Given the description of an element on the screen output the (x, y) to click on. 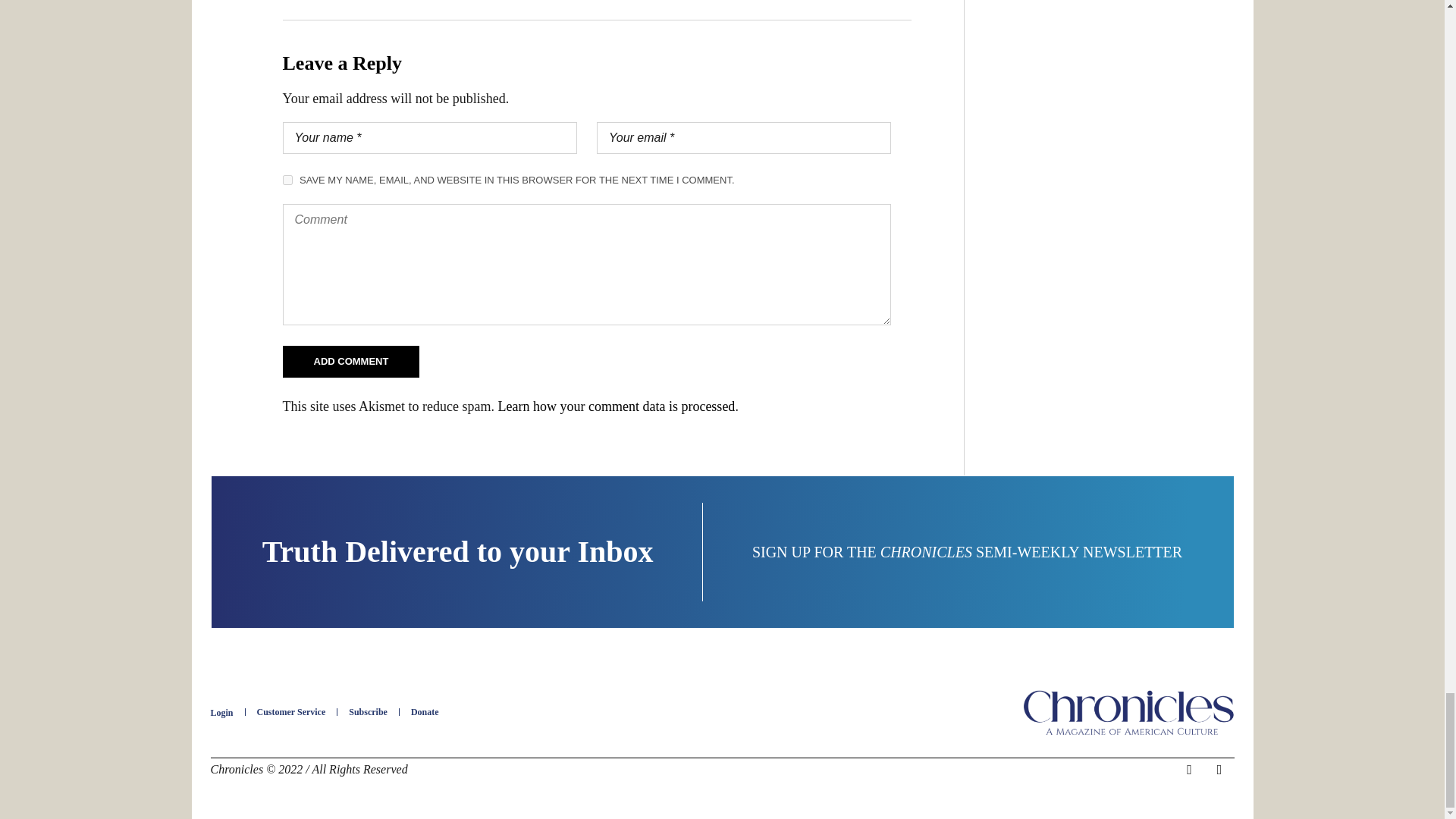
Login (221, 712)
yes (287, 180)
Add Comment (350, 361)
Facebook (1189, 769)
Donate (424, 711)
Twitter (1219, 769)
Add Comment (350, 361)
Learn how your comment data is processed (616, 406)
Customer Service (291, 711)
Subscribe (368, 711)
